Given the description of an element on the screen output the (x, y) to click on. 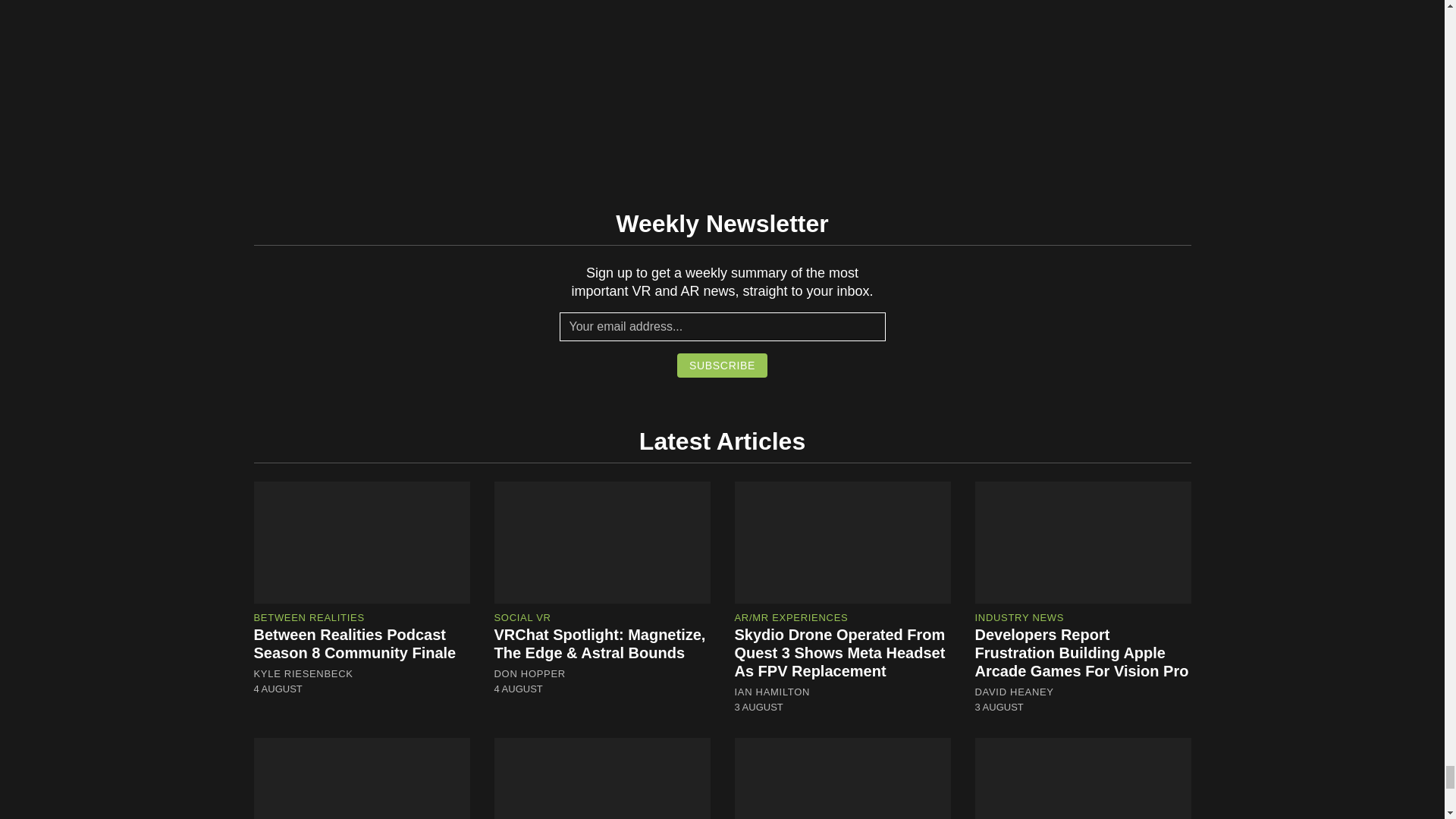
Subscribe (722, 364)
Subscribe (722, 364)
